Given the description of an element on the screen output the (x, y) to click on. 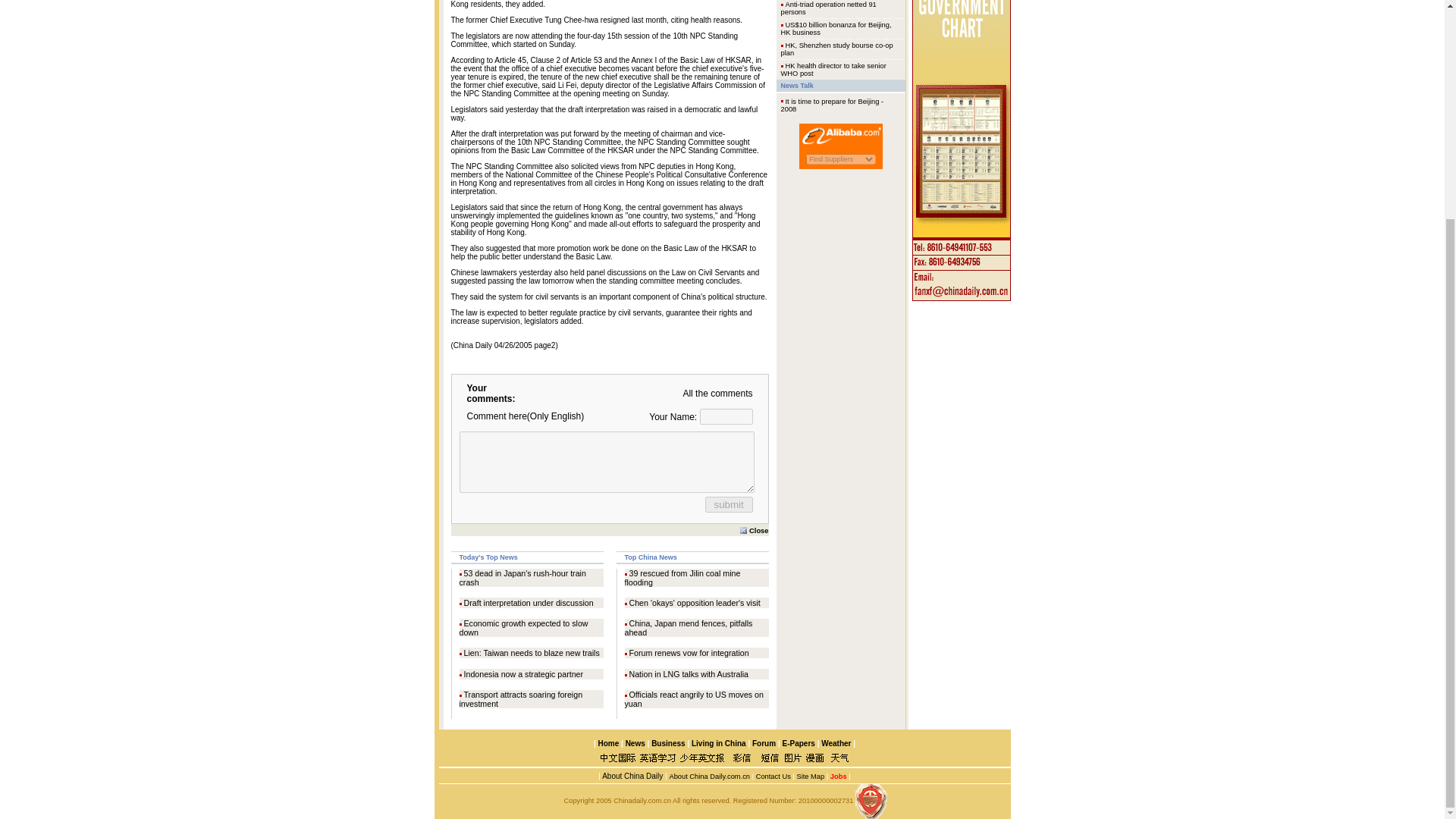
Home (607, 743)
Chen 'okays' opposition leader's visit (694, 602)
Draft interpretation under discussion (529, 602)
News (635, 743)
Forum renews vow for integration (688, 652)
Living in China (718, 743)
Indonesia now a strategic partner (523, 673)
53 dead in Japan's rush-hour train crash (523, 577)
Transport attracts soaring foreign investment (521, 699)
Close (753, 529)
HK health director to take senior WHO post (833, 69)
Nation in LNG talks with Australia (688, 673)
Business (667, 743)
 submit  (728, 503)
Anti-triad operation netted 91 persons (828, 7)
